Given the description of an element on the screen output the (x, y) to click on. 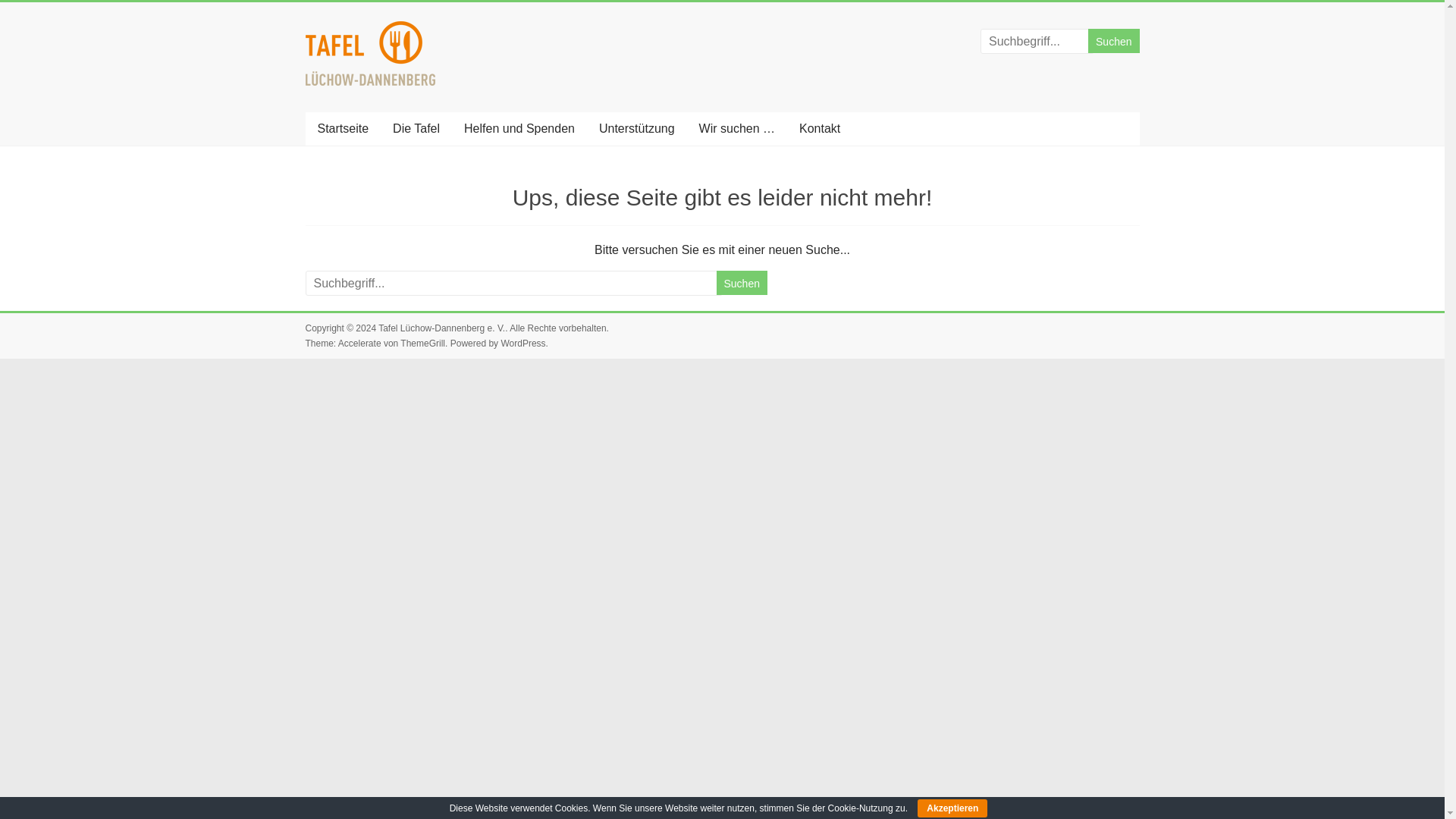
Accelerate (359, 343)
Die Tafel (415, 128)
WordPress (522, 343)
Suchen (741, 282)
Kontakt (819, 128)
Startseite (342, 128)
Helfen und Spenden (518, 128)
WordPress (522, 343)
Suchen (1112, 40)
Suchen (1112, 40)
